Given the description of an element on the screen output the (x, y) to click on. 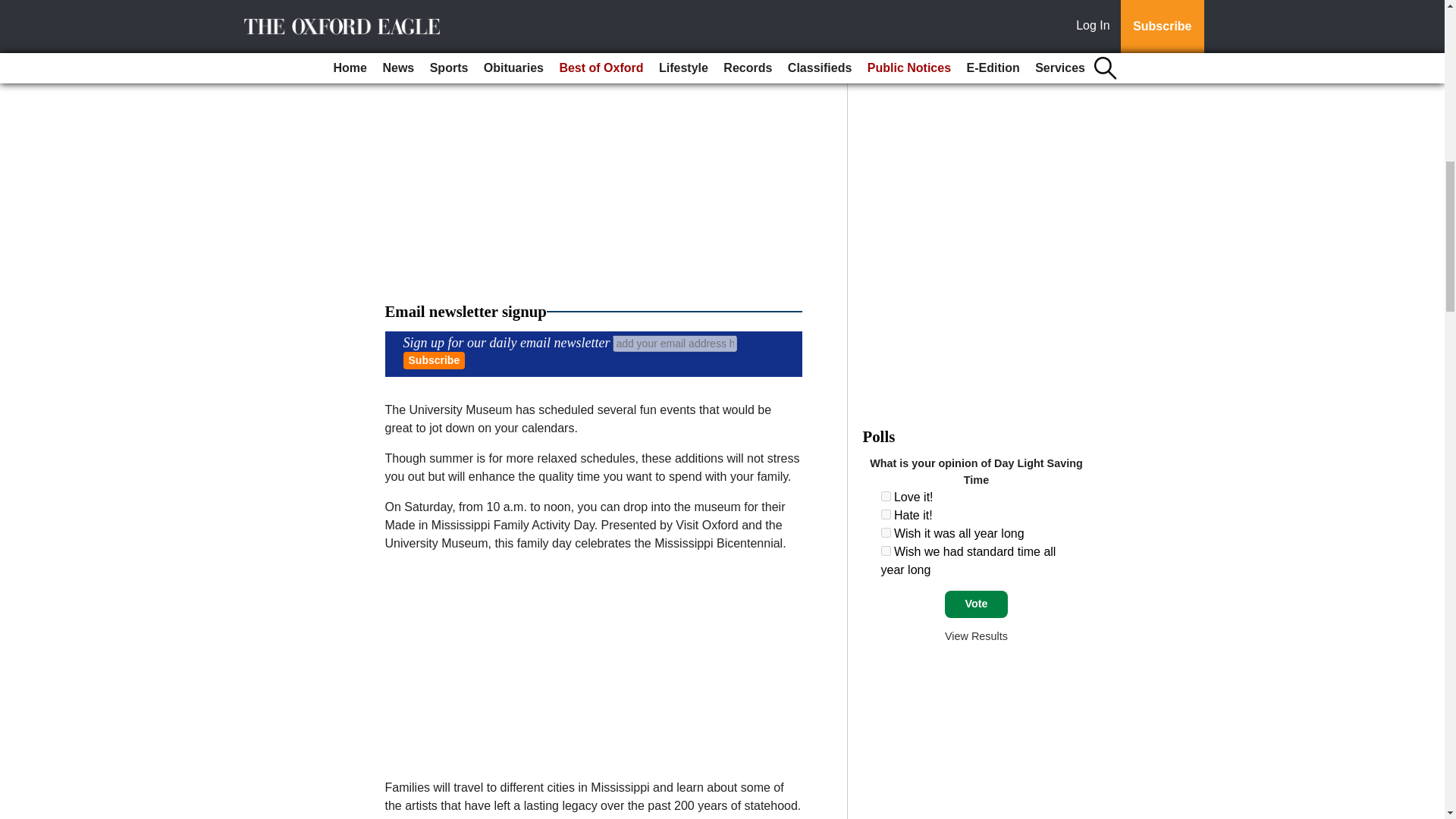
View Results (975, 635)
160 (885, 496)
163 (885, 551)
   Vote    (975, 604)
Subscribe (434, 360)
161 (885, 514)
View Results Of This Poll (975, 635)
Subscribe (434, 360)
162 (885, 532)
